Given the description of an element on the screen output the (x, y) to click on. 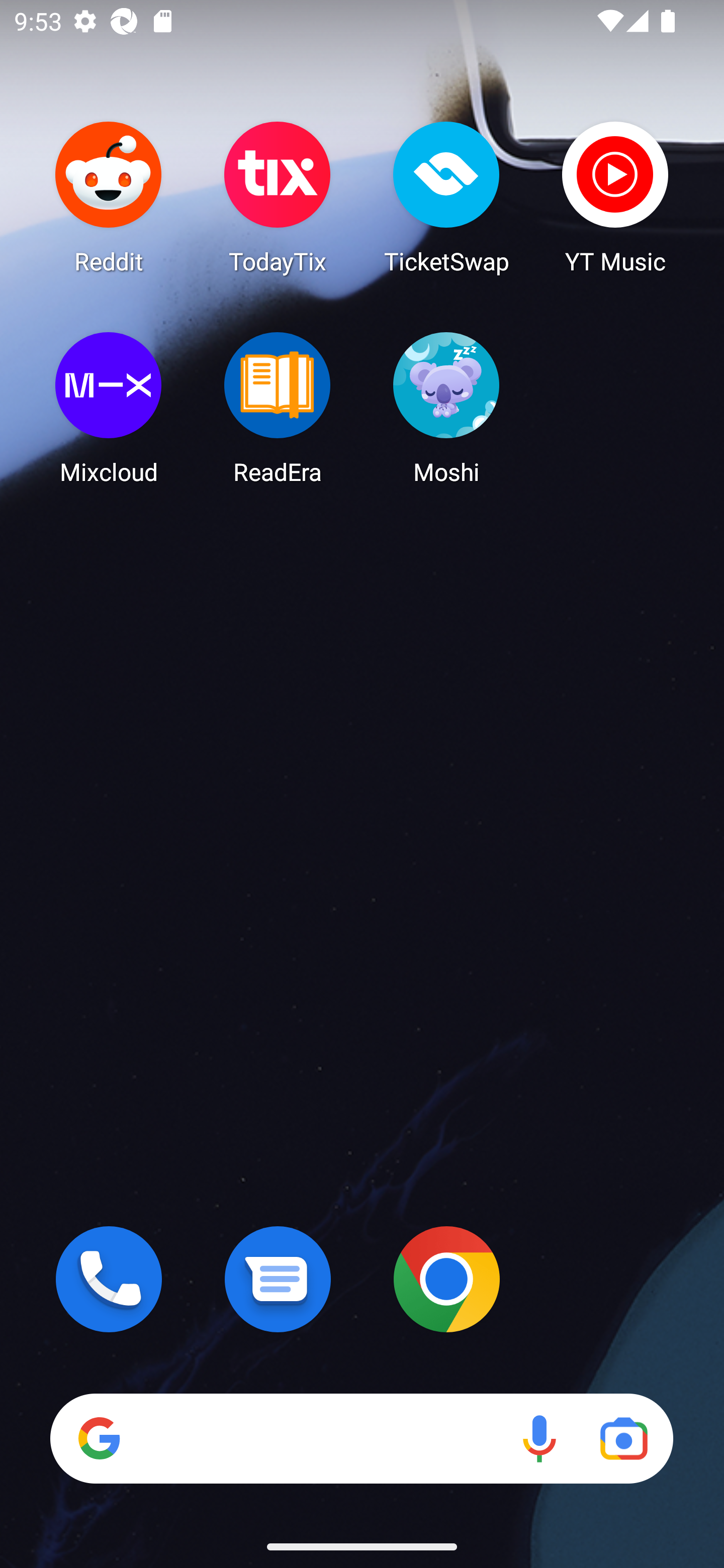
Reddit (108, 196)
TodayTix (277, 196)
TicketSwap (445, 196)
YT Music (615, 196)
Mixcloud (108, 407)
ReadEra (277, 407)
Moshi (445, 407)
Phone (108, 1279)
Messages (277, 1279)
Chrome (446, 1279)
Voice search (539, 1438)
Google Lens (623, 1438)
